Given the description of an element on the screen output the (x, y) to click on. 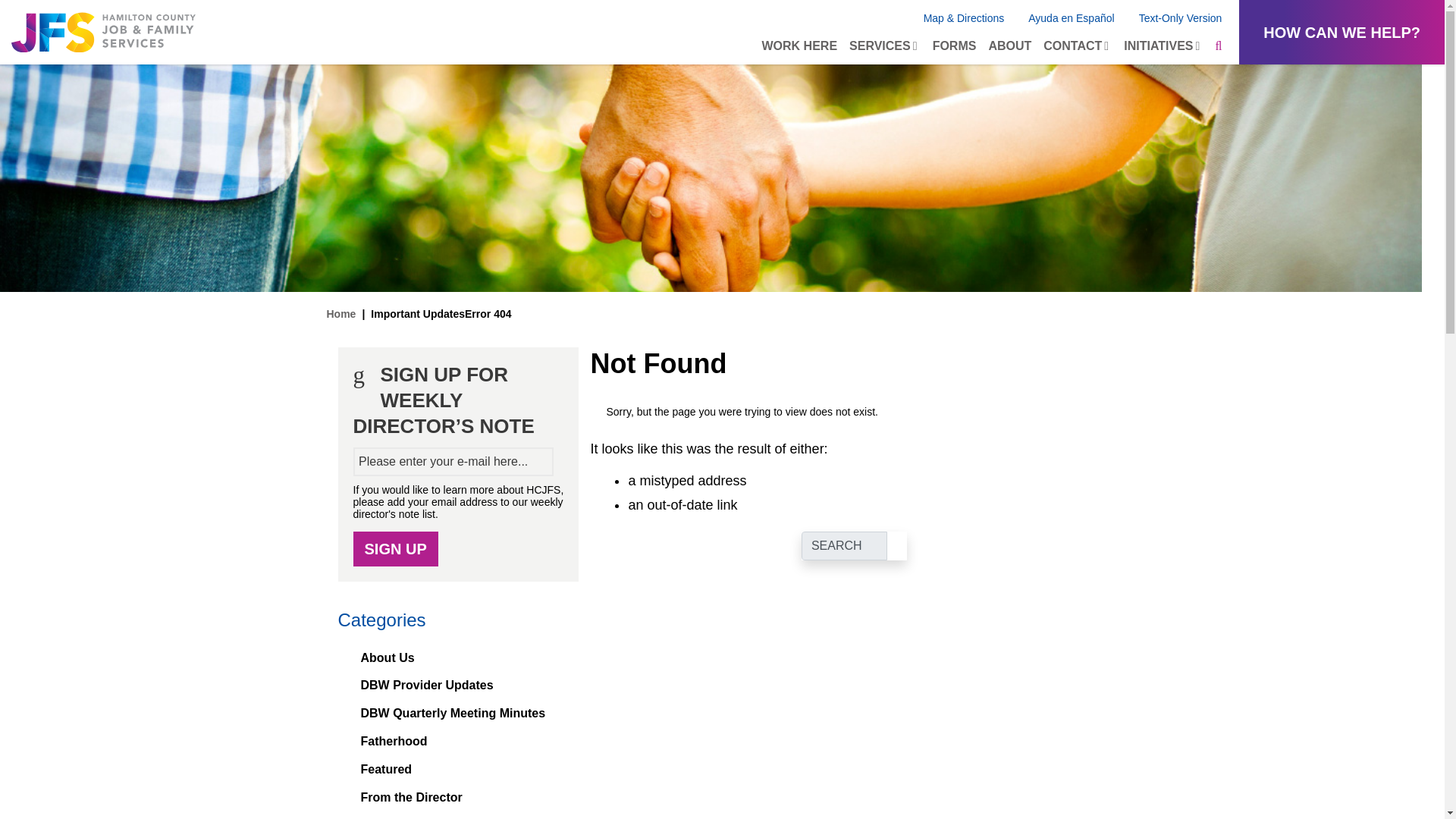
SEARCH (844, 545)
FORMS (954, 46)
Forms (954, 46)
CONTACT (1077, 46)
SERVICES (884, 46)
ABOUT (1008, 46)
About (1008, 46)
WORK HERE (799, 46)
Text-Only Version (1180, 18)
Please enter your e-mail here... (453, 461)
